Given the description of an element on the screen output the (x, y) to click on. 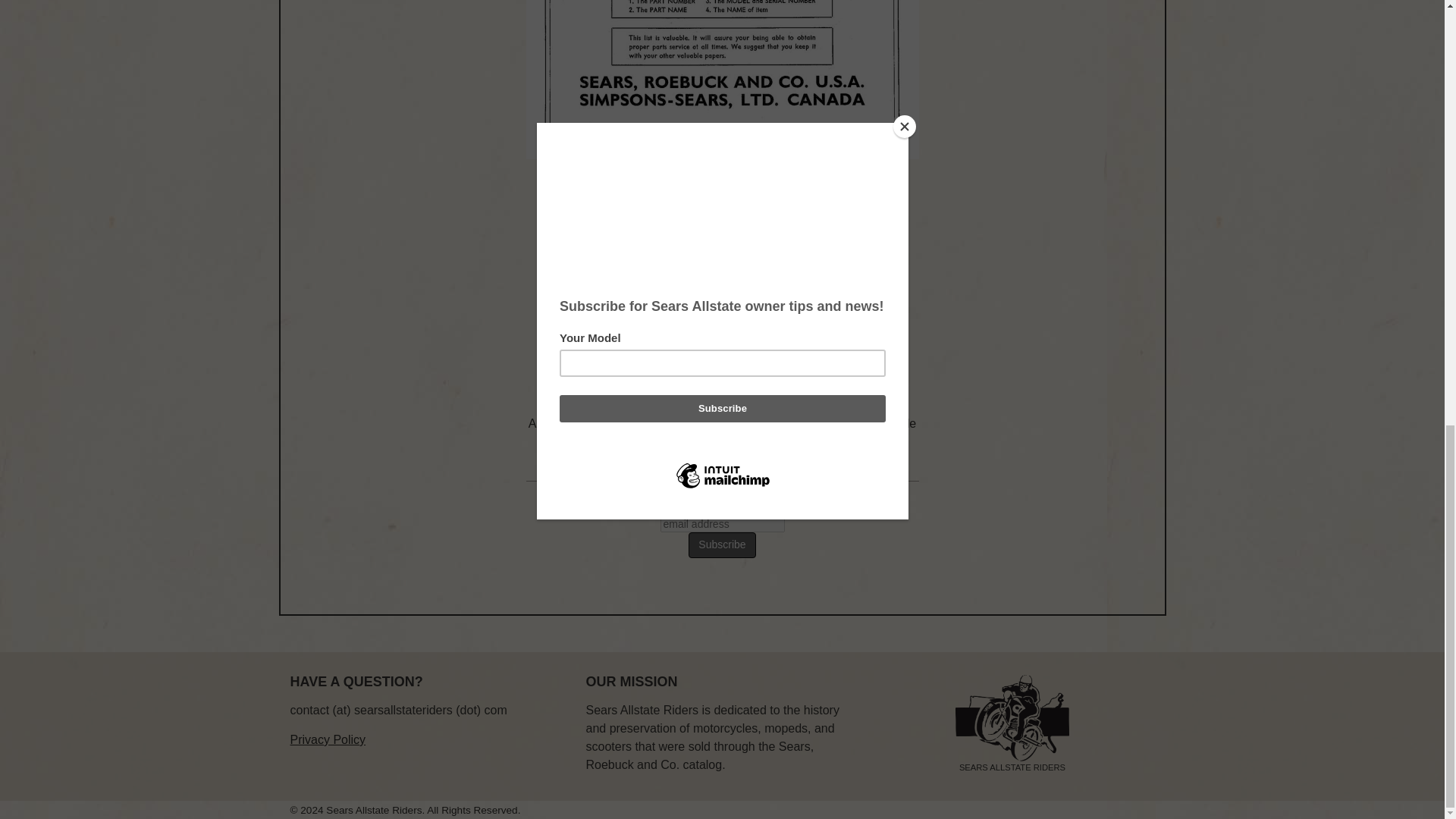
Add to Cart - PayPal check out (721, 365)
Privacy Policy (327, 739)
Subscribe (721, 544)
Subscribe (721, 544)
Add to Cart (721, 365)
Add to Cart (721, 365)
